Given the description of an element on the screen output the (x, y) to click on. 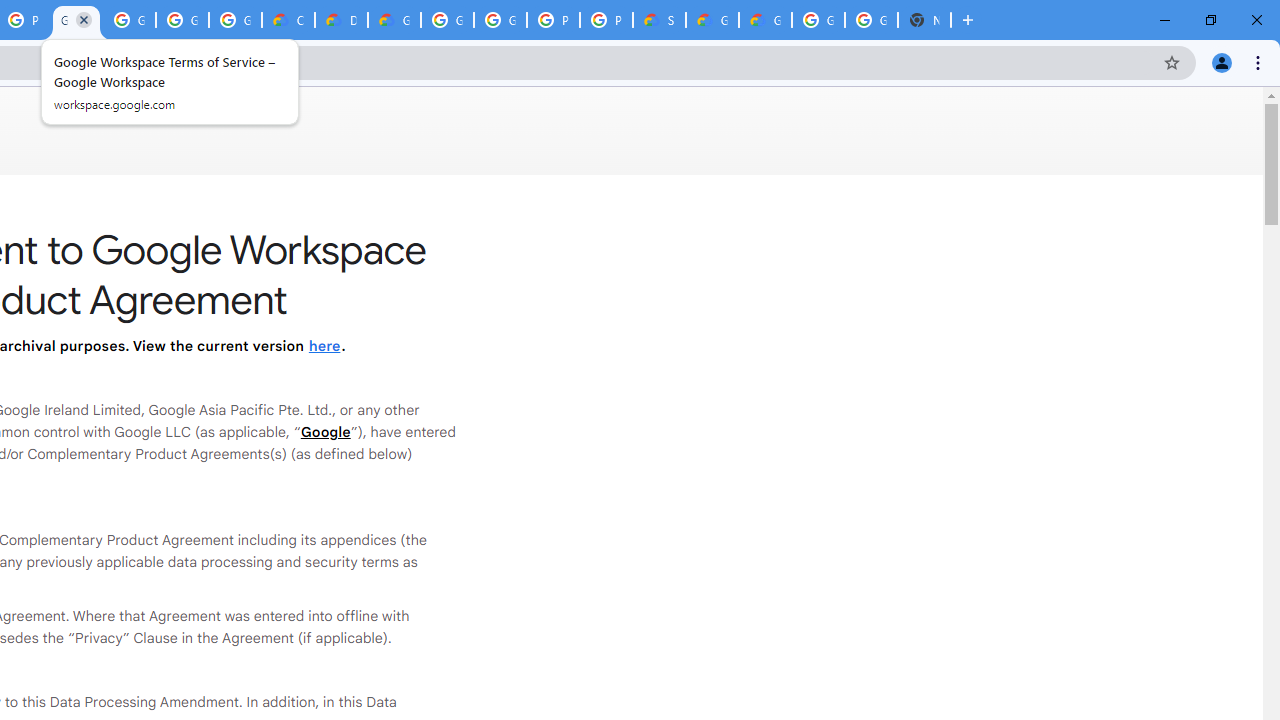
here (324, 345)
Google Cloud Service Health (712, 20)
Google Cloud Platform (871, 20)
Google Cloud Platform (818, 20)
Google Workspace - Specific Terms (182, 20)
Support Hub | Google Cloud (659, 20)
Gemini for Business and Developers | Google Cloud (394, 20)
New Tab (924, 20)
Google Cloud Platform (500, 20)
Google Workspace - Specific Terms (235, 20)
